Given the description of an element on the screen output the (x, y) to click on. 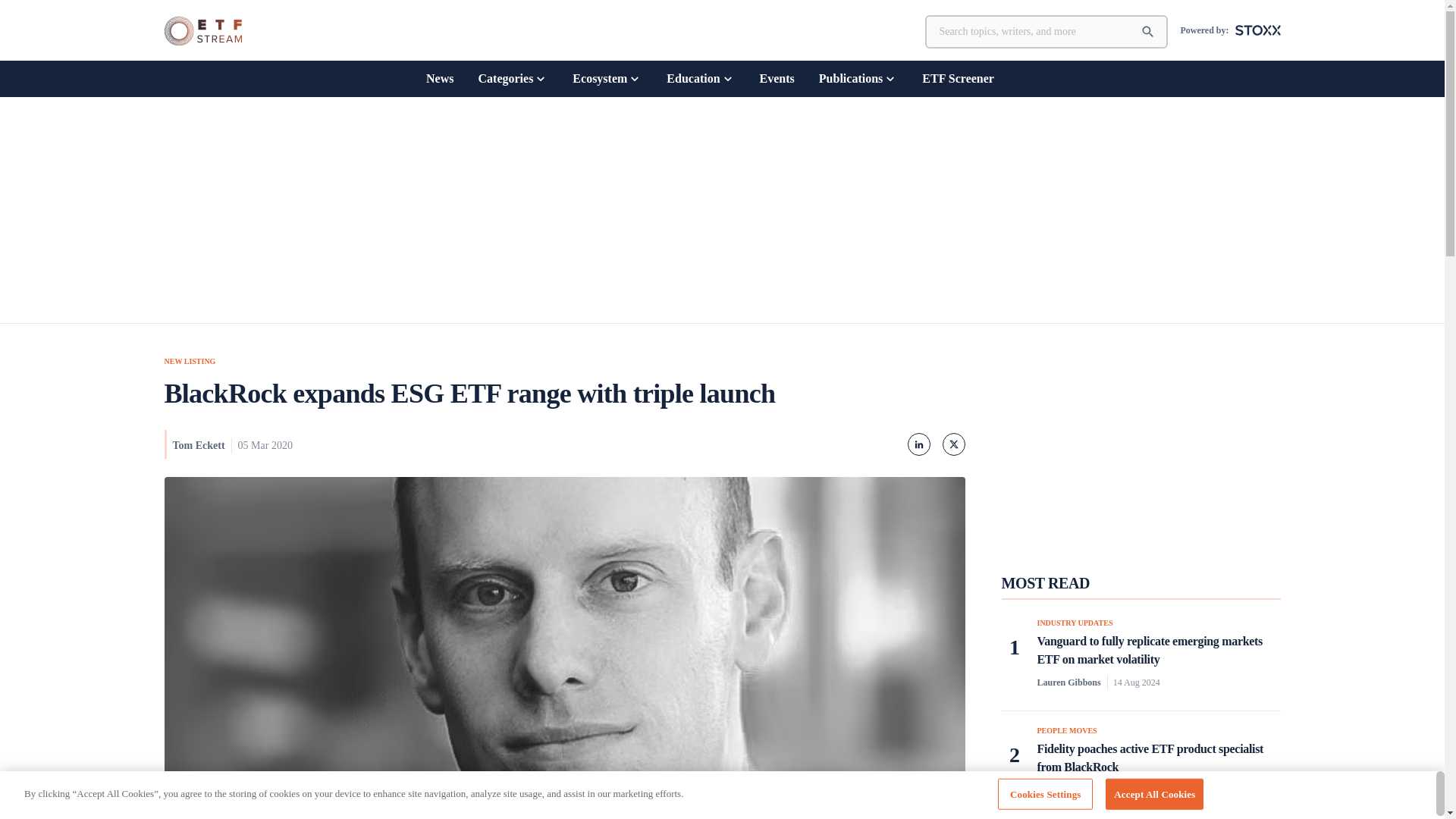
ETF Screener (957, 78)
News (439, 78)
3rd party ad content (1139, 448)
Events (777, 78)
Tom Eckett (199, 445)
Education (700, 78)
